Given the description of an element on the screen output the (x, y) to click on. 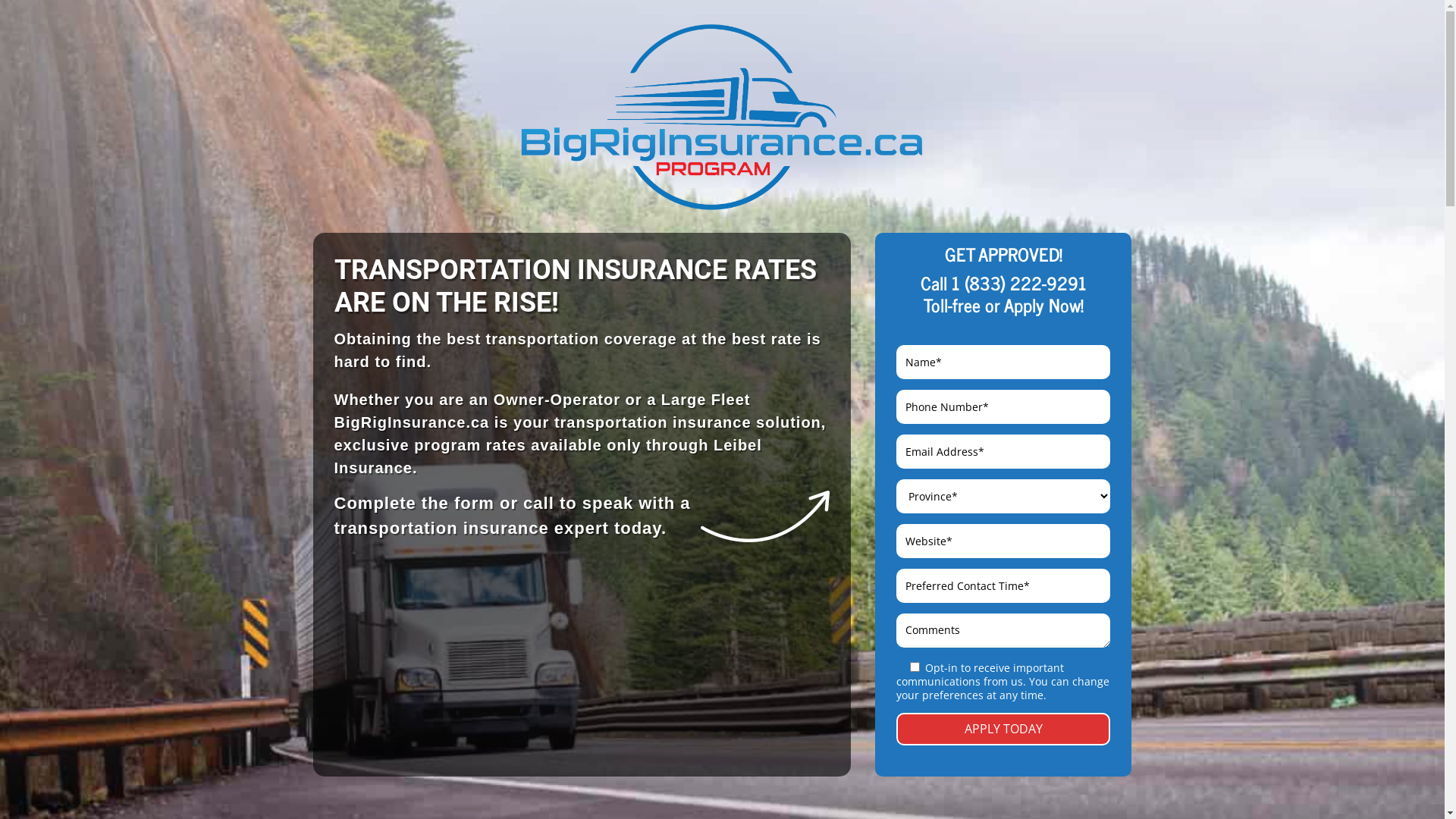
APPLY TODAY Element type: text (1003, 728)
1 (833) 222-9291 Element type: text (1018, 282)
